Given the description of an element on the screen output the (x, y) to click on. 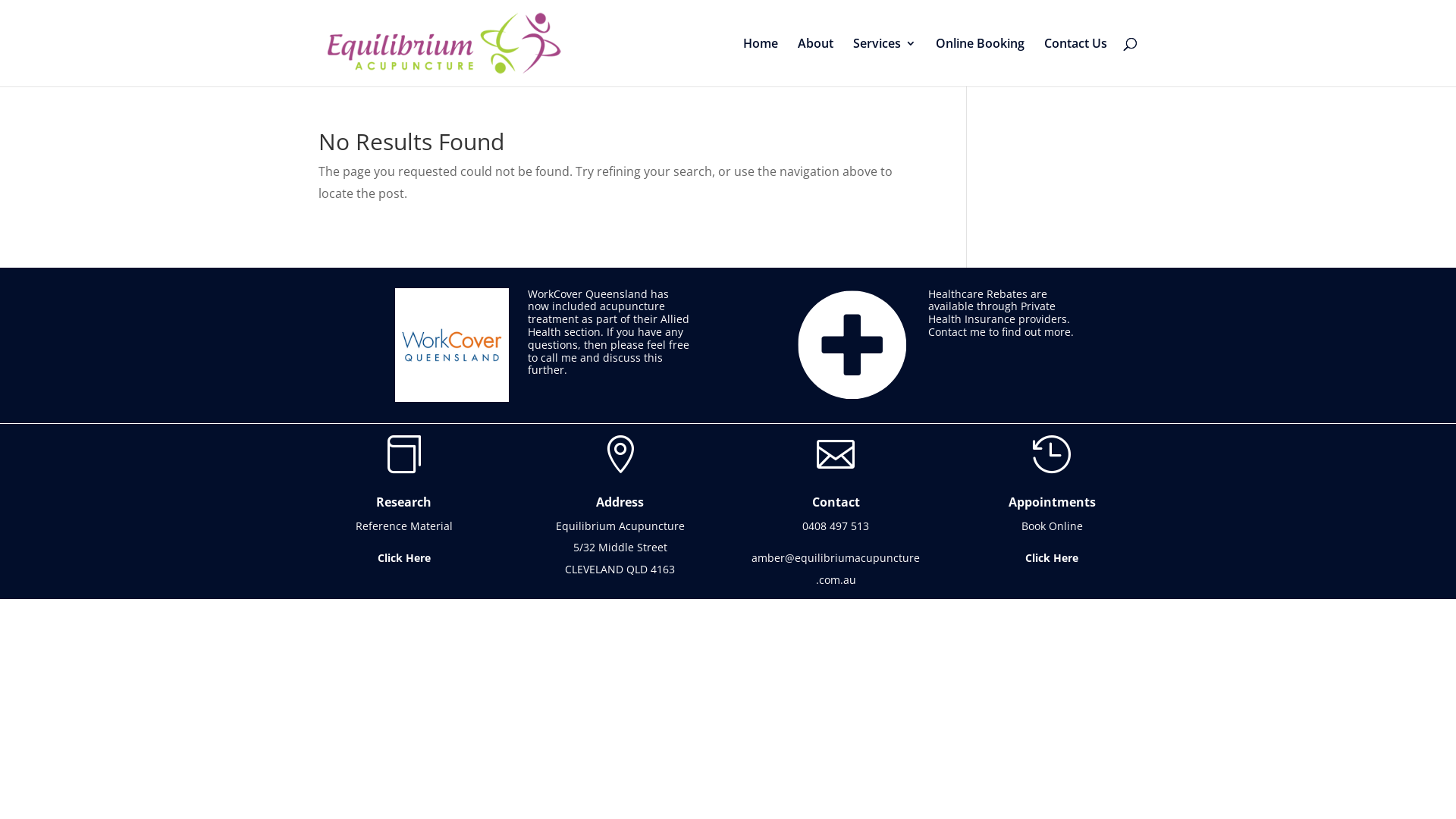
About Element type: text (815, 61)
amber@equilibriumacupuncture.com.au Element type: text (835, 568)
WorkCover QLD Element type: hover (451, 344)
Click Here Element type: text (403, 557)
Home Element type: text (760, 61)
Healthcare Rebate 2 Element type: hover (852, 344)
Services Element type: text (884, 61)
Click Here Element type: text (1051, 557)
Online Booking Element type: text (979, 61)
Contact Us Element type: text (1075, 61)
